Given the description of an element on the screen output the (x, y) to click on. 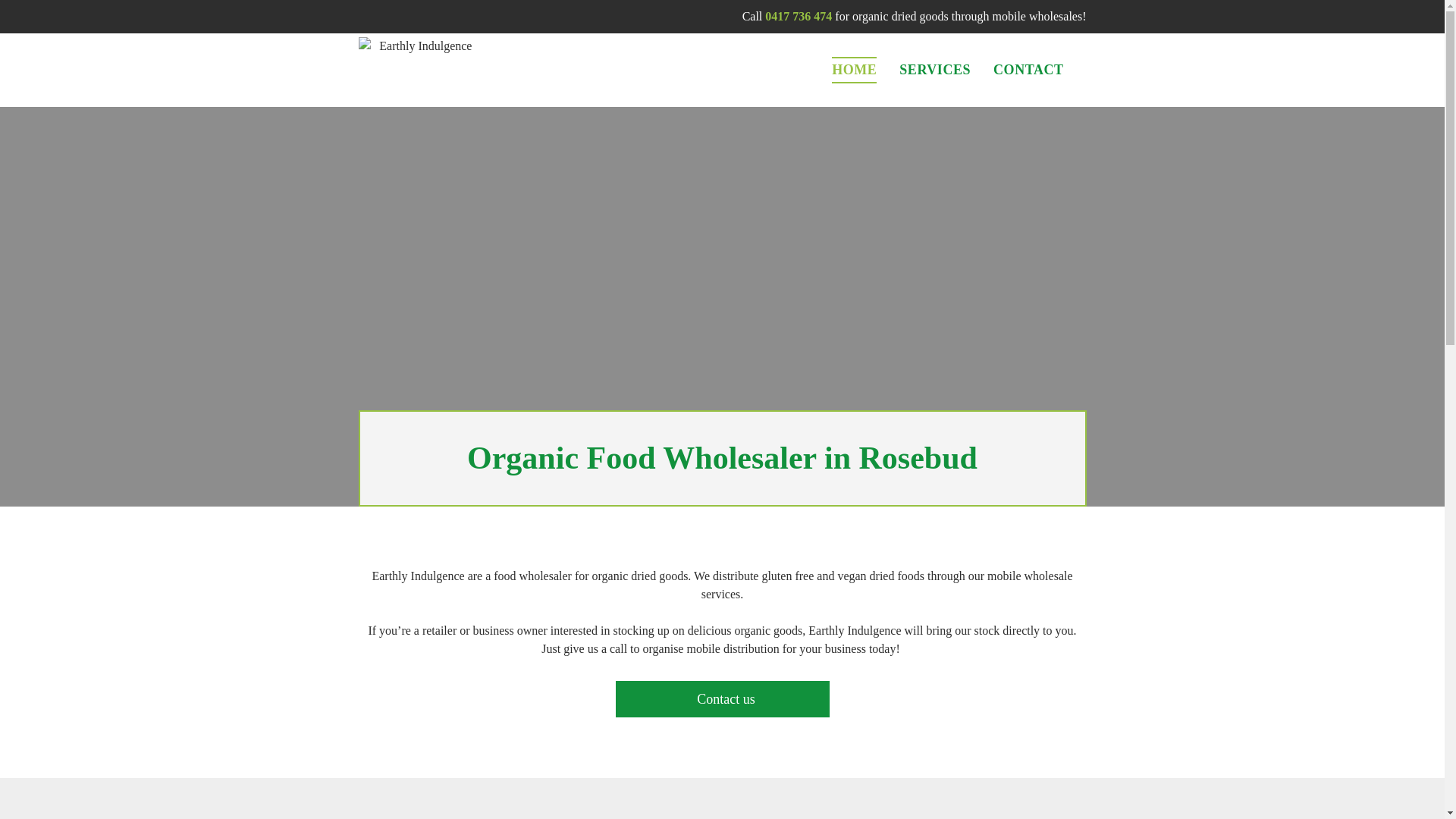
HOME Element type: text (854, 69)
SERVICES Element type: text (935, 69)
CONTACT Element type: text (1028, 69)
Contact us Element type: text (722, 698)
